Given the description of an element on the screen output the (x, y) to click on. 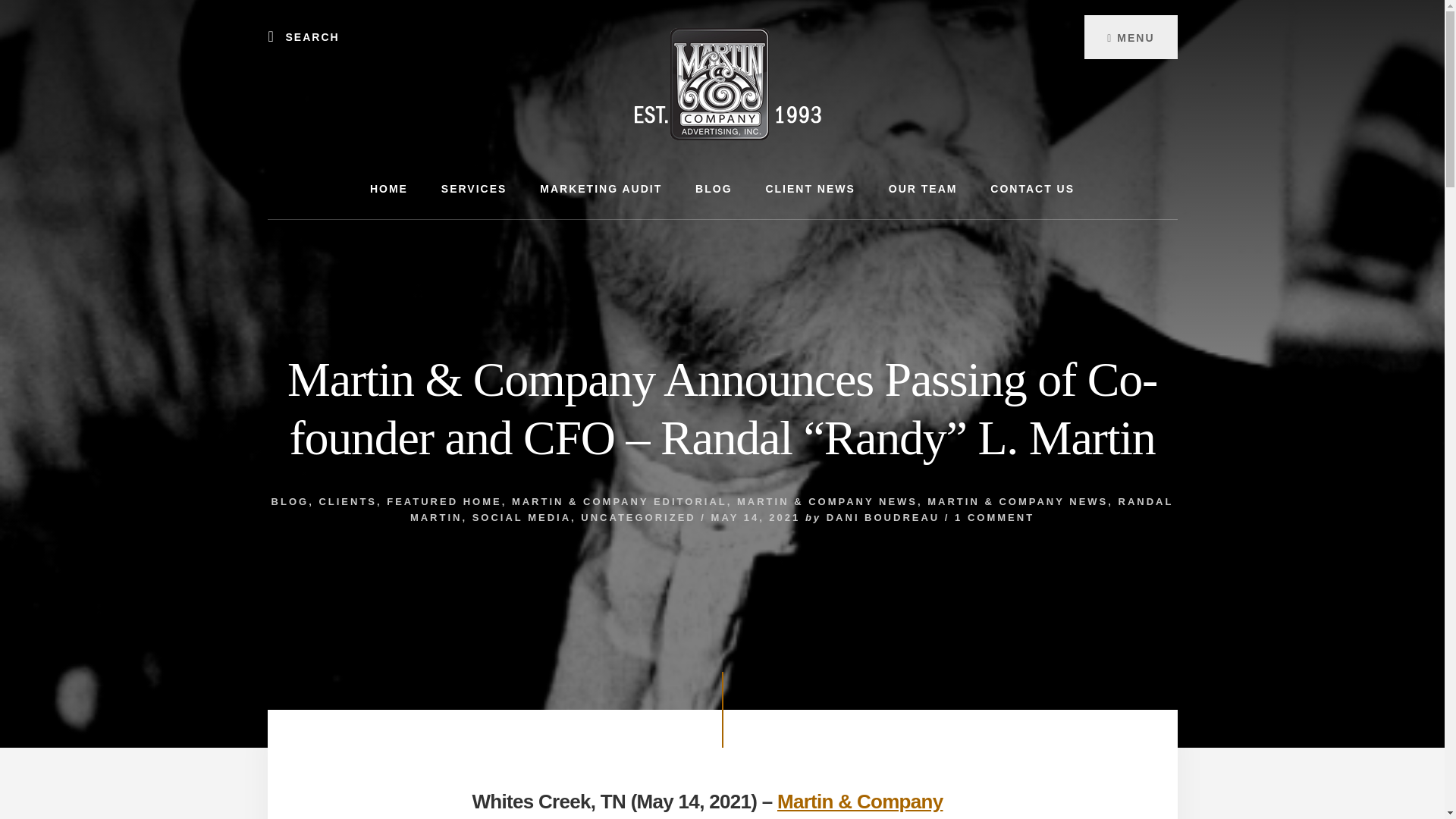
DANI BOUDREAU (883, 517)
CLIENTS (347, 501)
BLOG (289, 501)
SERVICES (474, 188)
HOME (389, 188)
1 COMMENT (994, 517)
RANDAL MARTIN (791, 509)
